Given the description of an element on the screen output the (x, y) to click on. 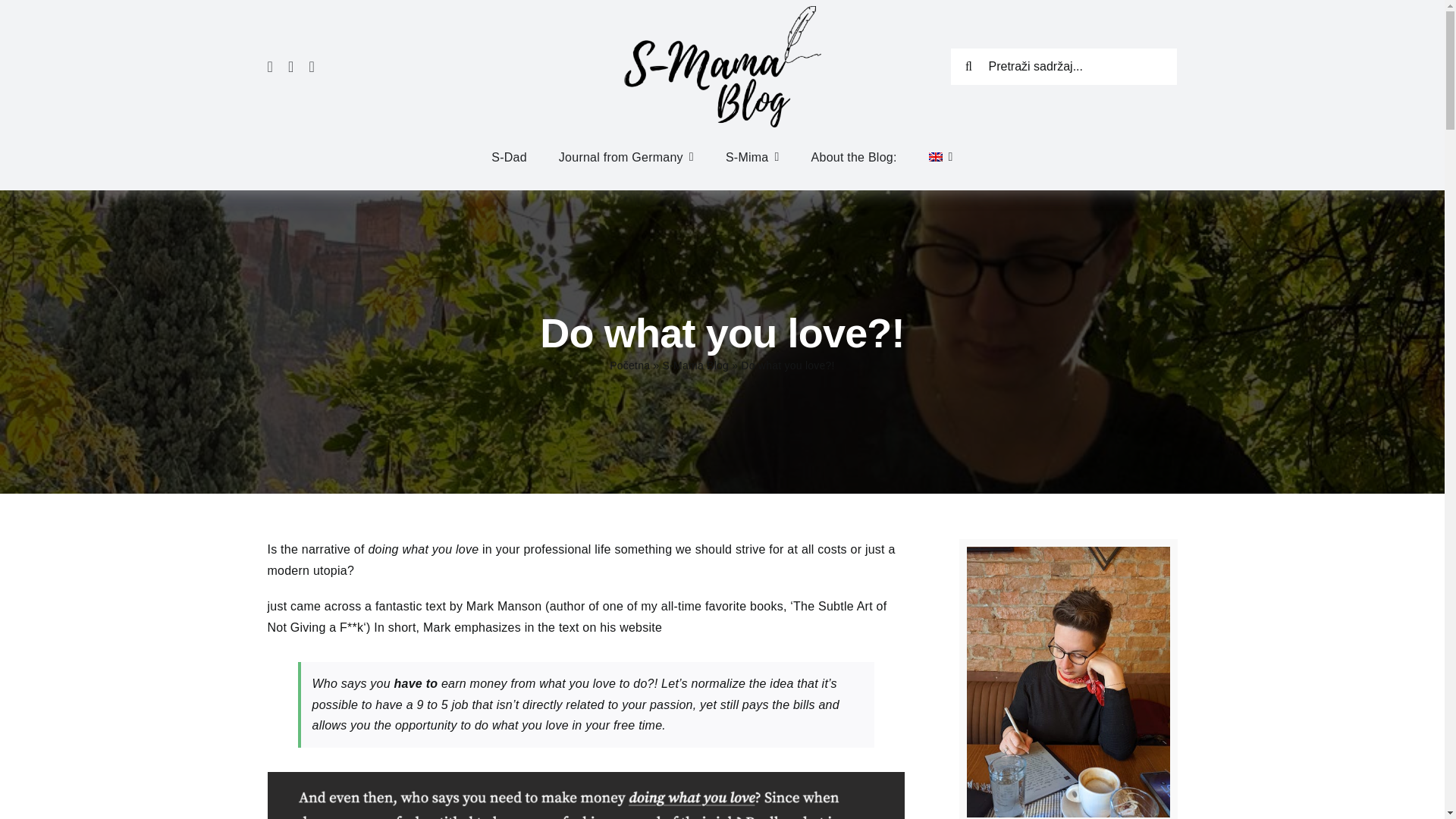
Journal from Germany (626, 157)
About the Blog: (853, 157)
S-Mama Blog (695, 365)
S-Dad (509, 157)
S-Mima (751, 157)
Mark Manson (503, 605)
